Given the description of an element on the screen output the (x, y) to click on. 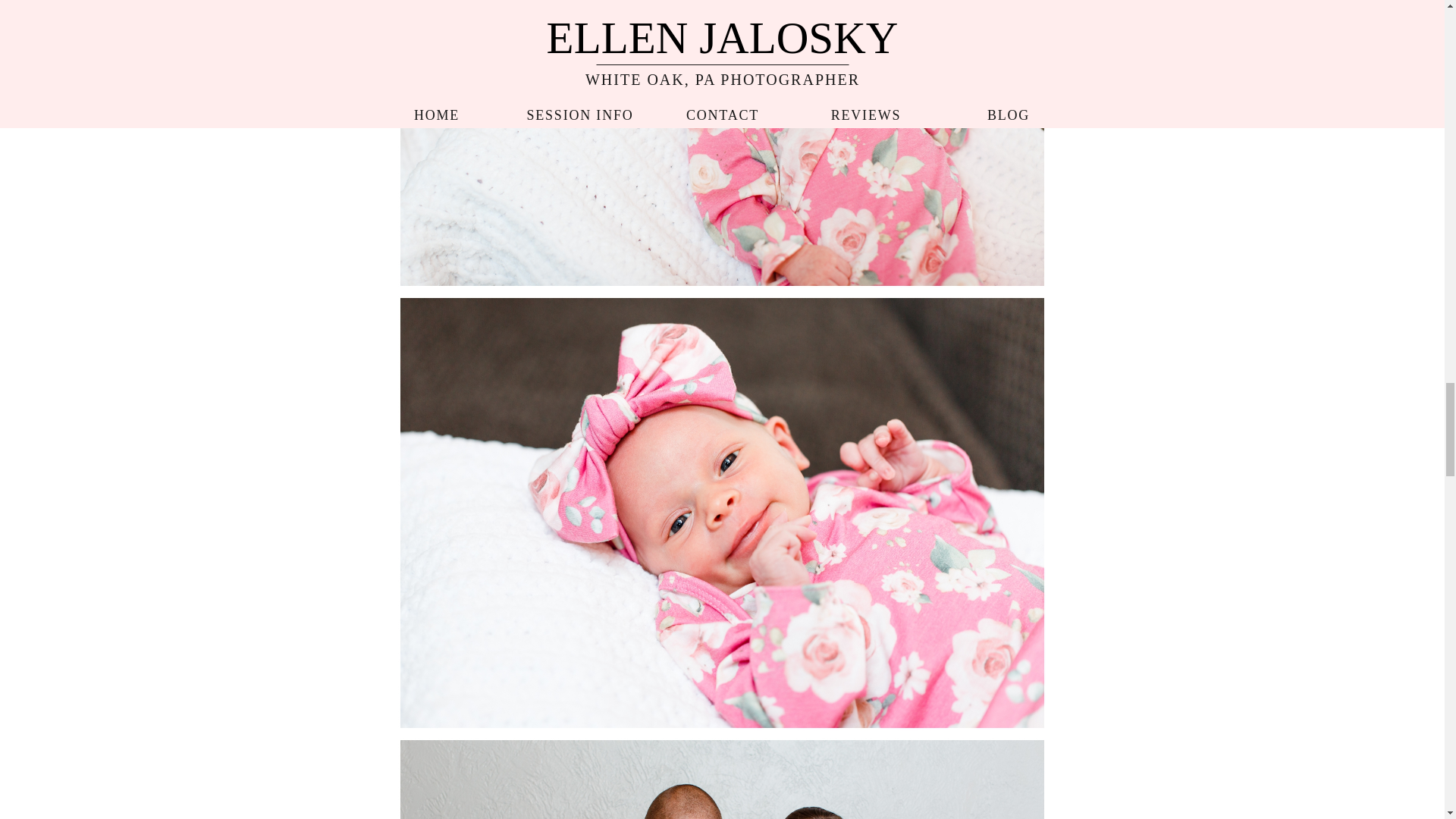
At Home Newborn Photos (721, 778)
